Given the description of an element on the screen output the (x, y) to click on. 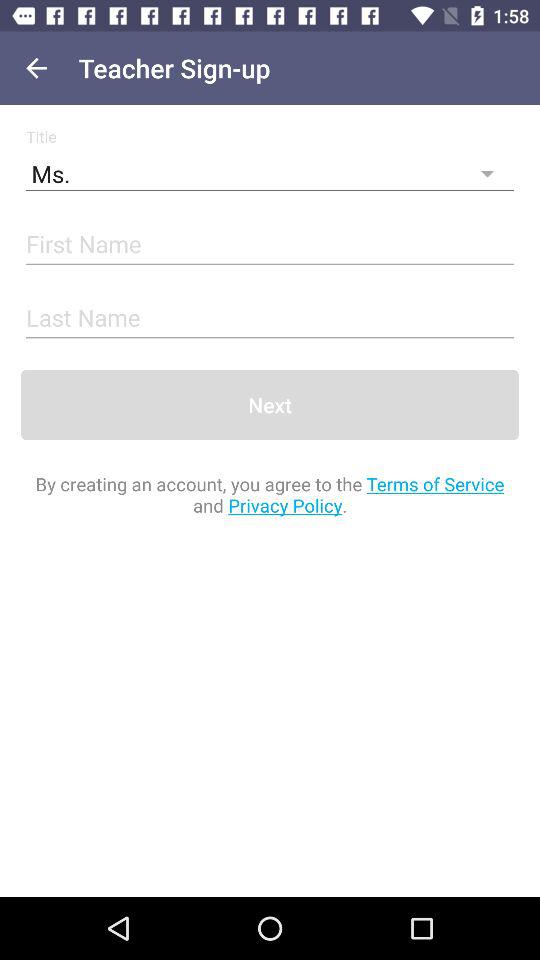
enter last name (270, 318)
